Given the description of an element on the screen output the (x, y) to click on. 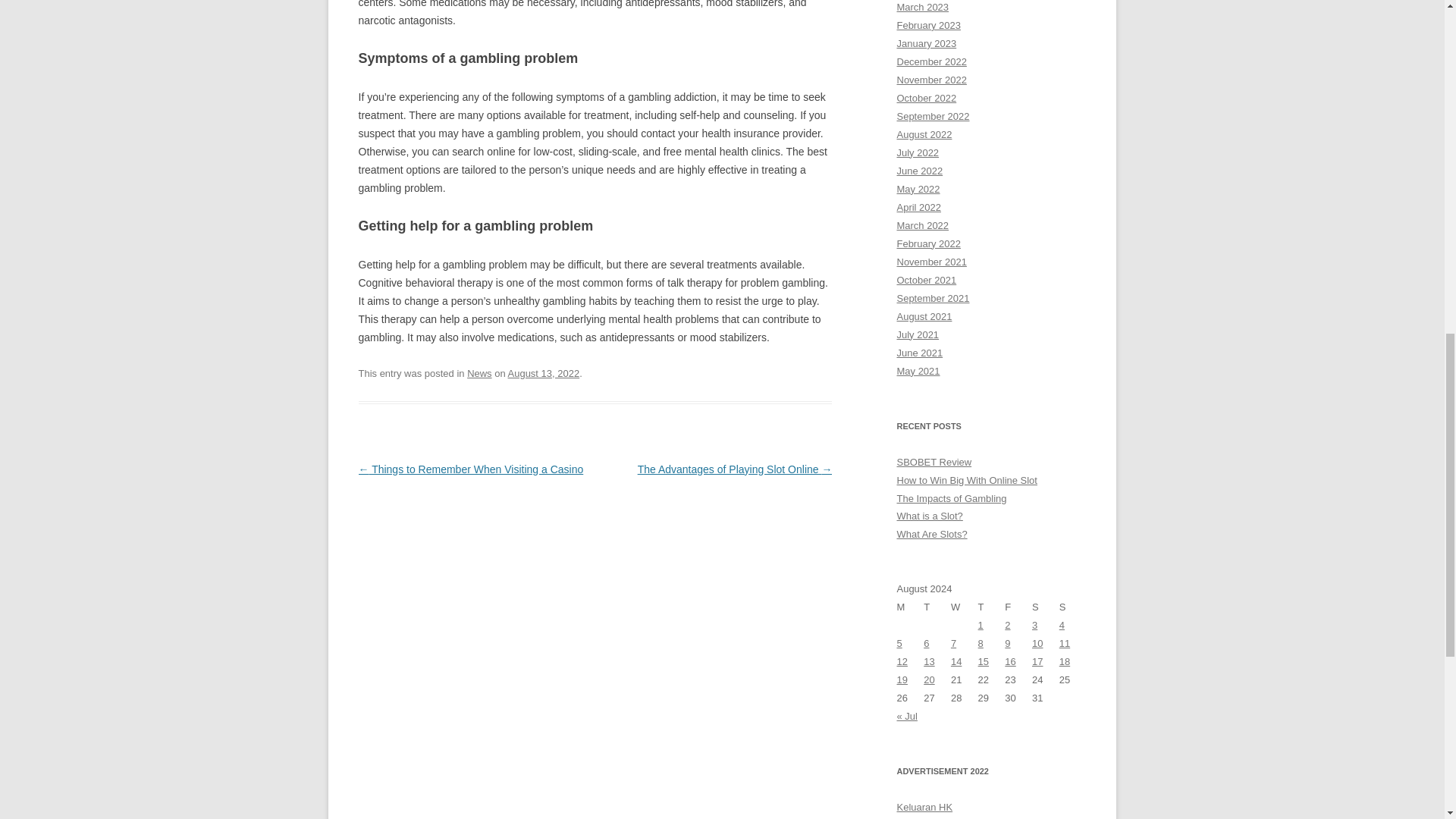
October 2022 (926, 98)
December 2022 (931, 61)
Saturday (1045, 607)
September 2022 (932, 116)
February 2023 (927, 25)
March 2023 (922, 7)
Wednesday (964, 607)
Friday (1018, 607)
Thursday (992, 607)
News (479, 373)
